Given the description of an element on the screen output the (x, y) to click on. 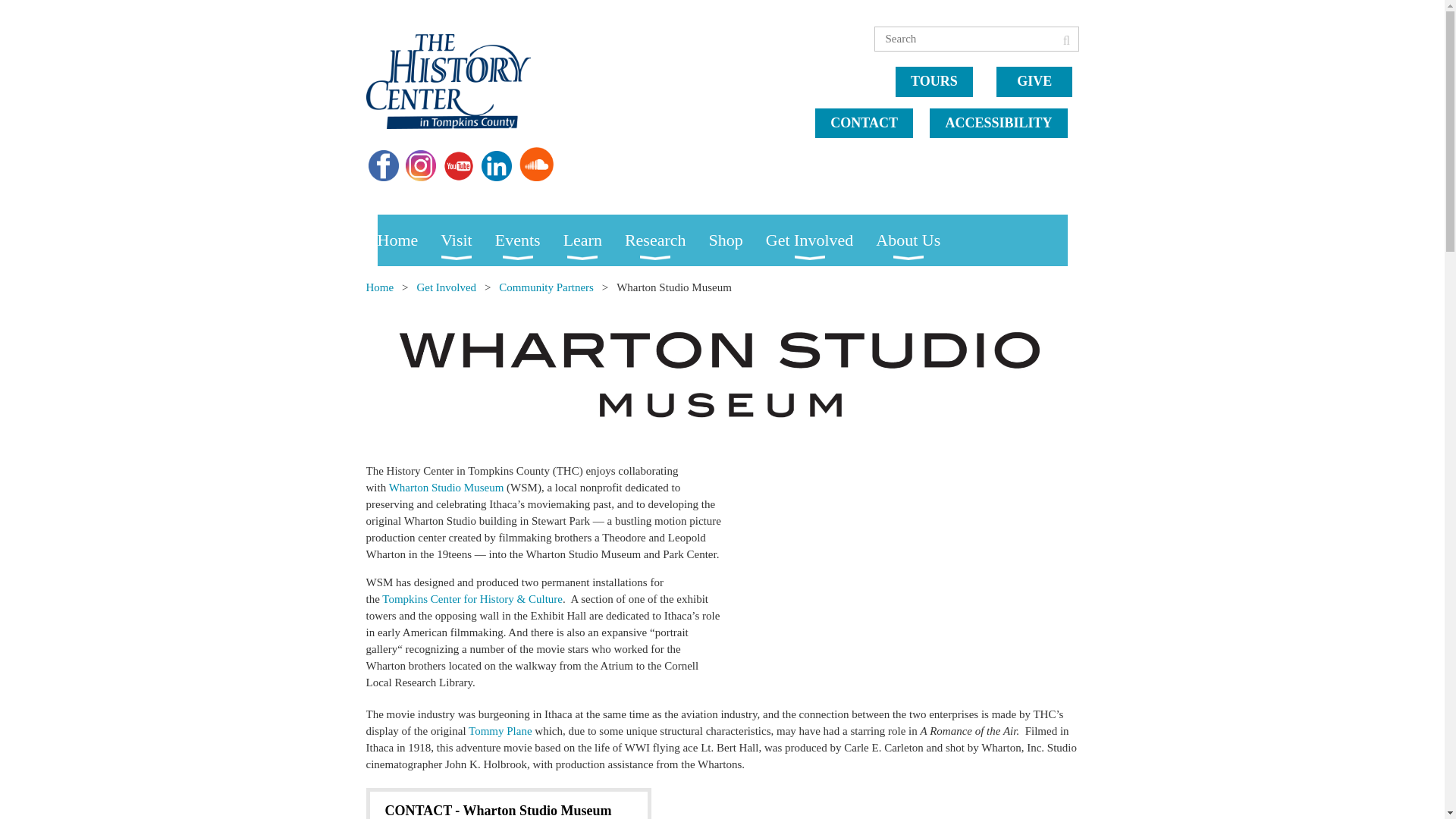
Events (529, 240)
Home (409, 240)
Visit (468, 240)
Learn (593, 240)
TOURS (933, 81)
Visit (468, 240)
GIVE (1033, 81)
CONTACT (863, 122)
Home (409, 240)
ACCESSIBILITY (998, 122)
